Given the description of an element on the screen output the (x, y) to click on. 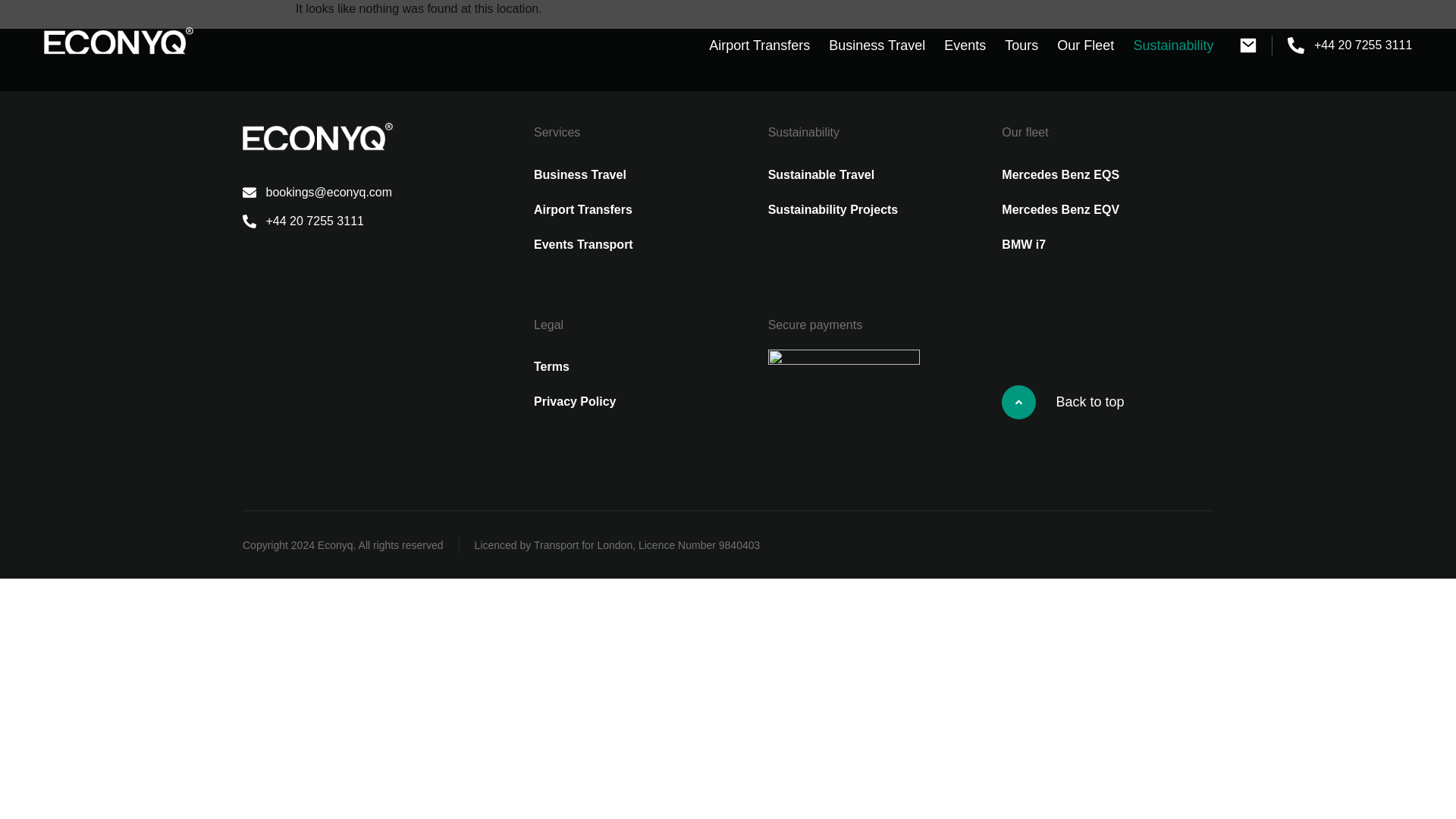
Events (965, 45)
Business Travel (876, 45)
Sustainability (1173, 45)
Our Fleet (1085, 45)
Tours (1021, 45)
Airport Transfers (758, 45)
